Given the description of an element on the screen output the (x, y) to click on. 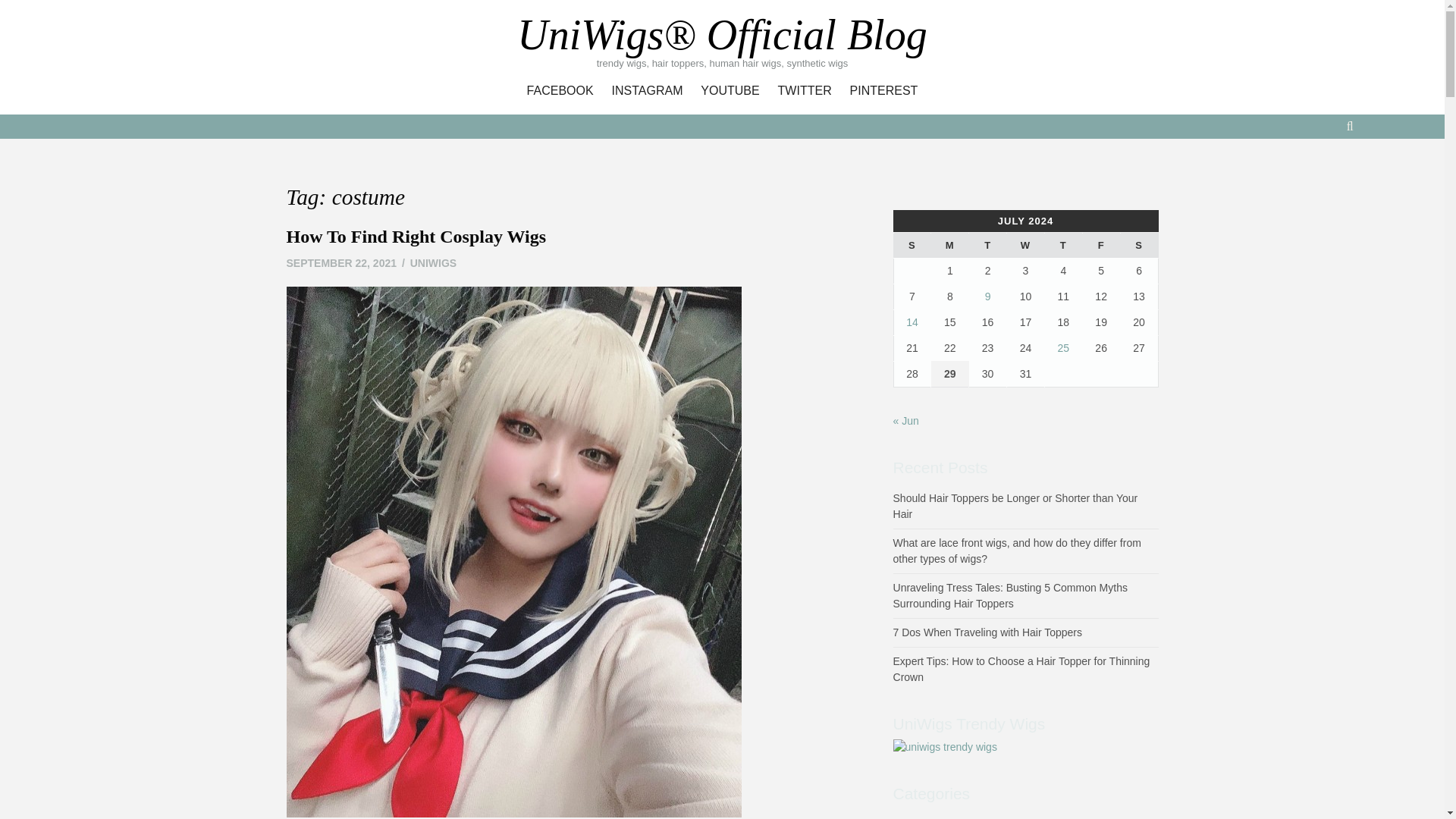
How To Find Right Cosplay Wigs (416, 236)
TWITTER (805, 91)
UNIWIGS (433, 263)
YOUTUBE (730, 91)
Sunday (912, 245)
25 (1064, 347)
Saturday (1138, 245)
Should Hair Toppers be Longer or Shorter than Your Hair (1015, 506)
Monday (950, 245)
PINTEREST (884, 91)
Wednesday (1026, 245)
UniWigs Trendy Wigs (945, 746)
14 (911, 322)
Tuesday (988, 245)
